Given the description of an element on the screen output the (x, y) to click on. 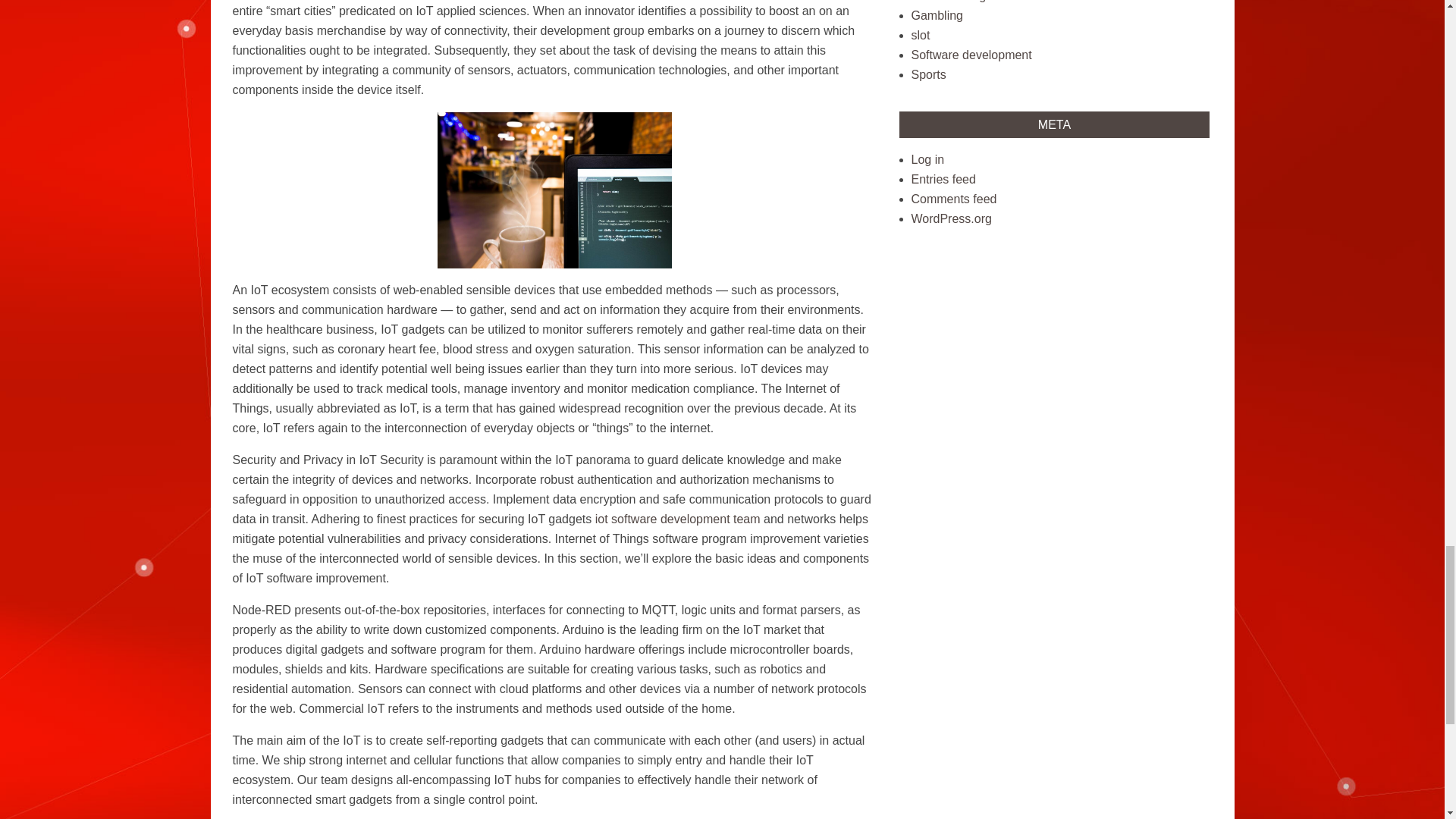
iot software development team (677, 518)
